Given the description of an element on the screen output the (x, y) to click on. 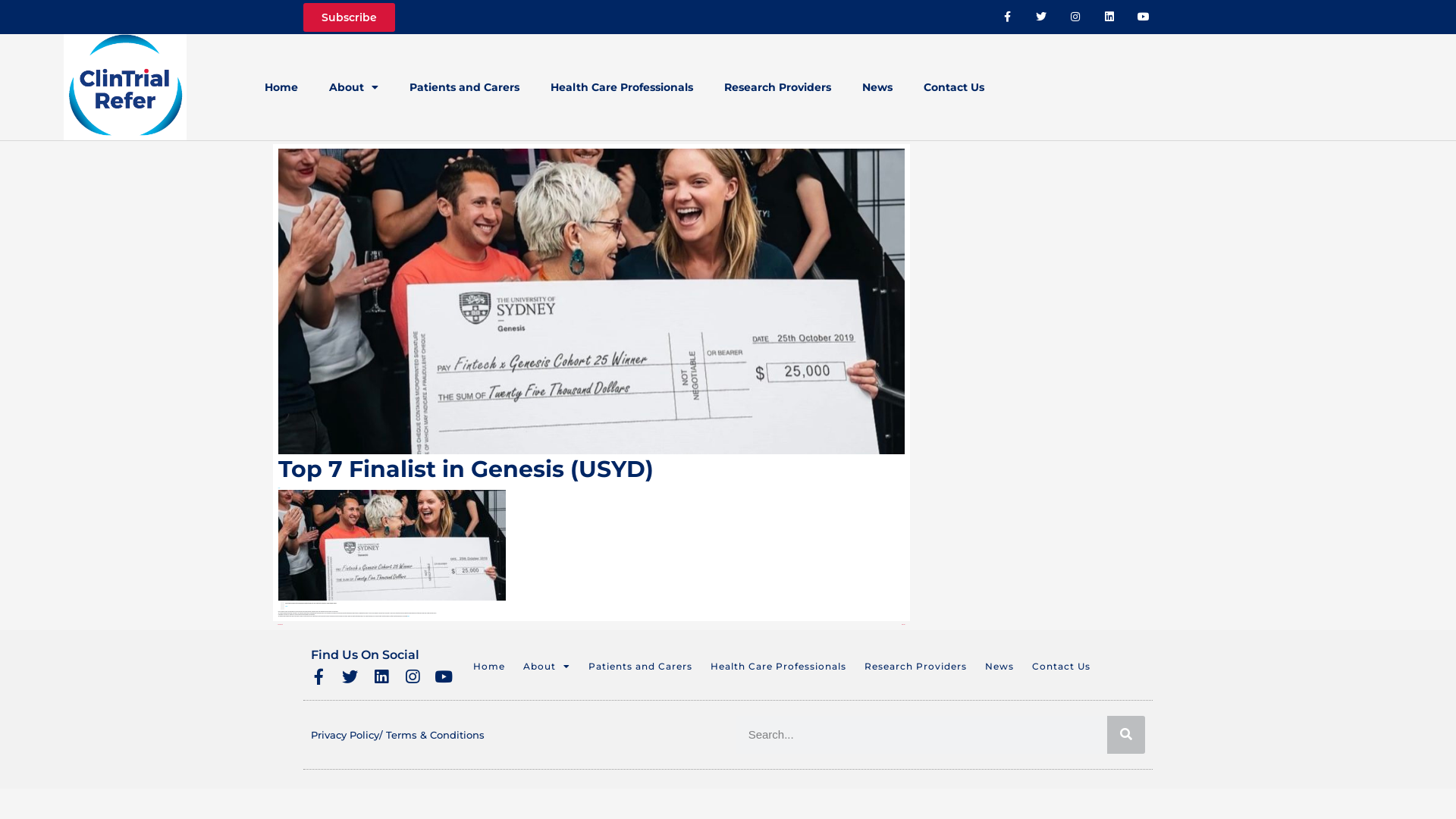
News Element type: text (279, 487)
Home Element type: text (489, 666)
Patients and Carers Element type: text (464, 86)
Tweet Element type: text (286, 606)
Home Element type: text (281, 86)
Patients and Carers Element type: text (640, 666)
News Element type: text (877, 86)
Contact Us Element type: text (953, 86)
Contact Us Element type: text (1061, 666)
Research Providers Element type: text (777, 86)
Health Care Professionals Element type: text (621, 86)
Health Care Professionals Element type: text (778, 666)
Privacy Policy/ Terms & Conditions Element type: text (397, 734)
here. Element type: text (407, 615)
About Element type: text (546, 666)
Research Providers Element type: text (915, 666)
News Element type: text (999, 666)
Subscribe Element type: text (349, 17)
About Element type: text (353, 86)
